Given the description of an element on the screen output the (x, y) to click on. 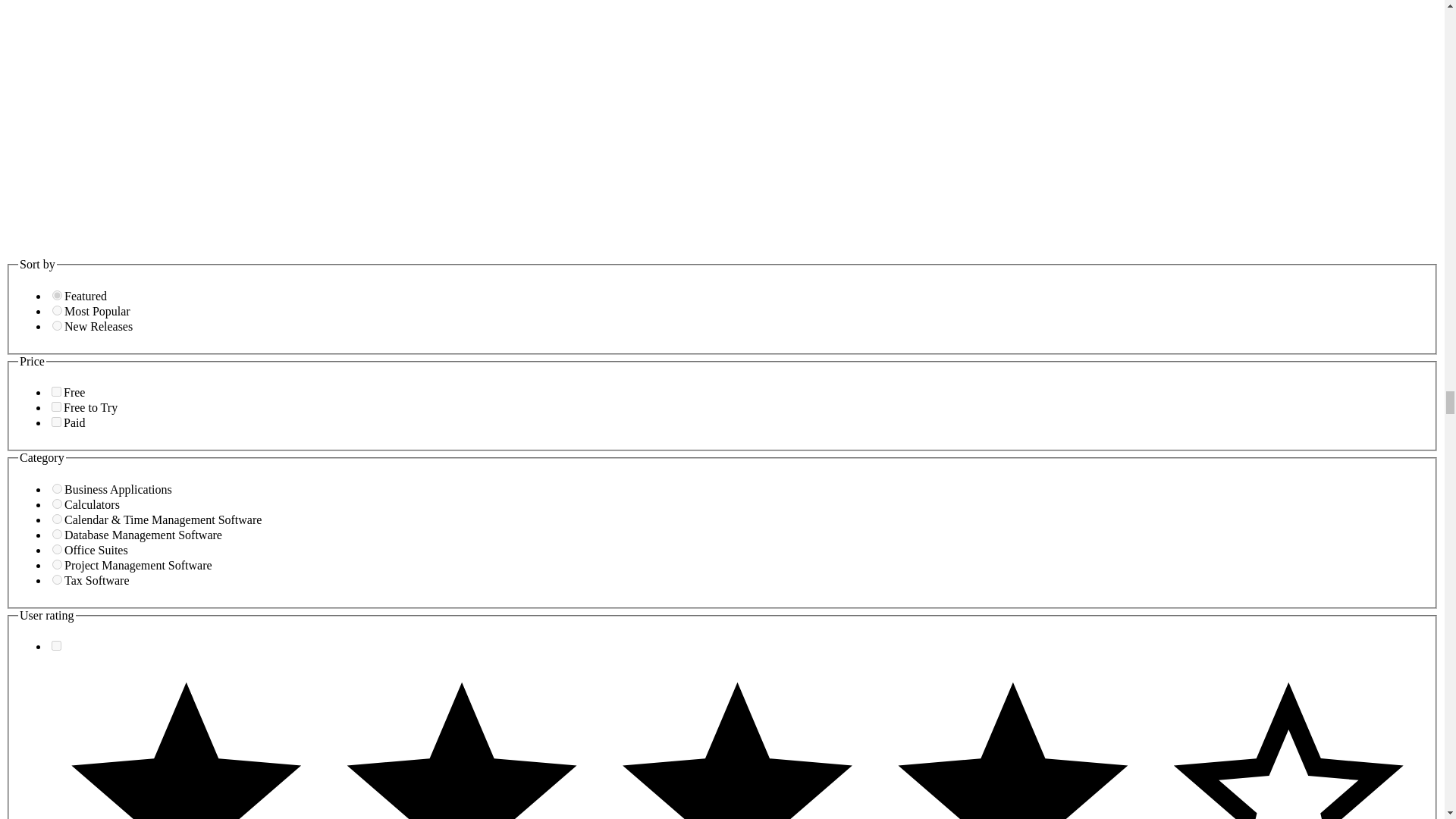
business-databases (57, 533)
business-office-suites (57, 549)
free (55, 391)
business-applications (57, 488)
featured (57, 295)
newReleases (57, 325)
utilities-calculators (57, 503)
freeToTry (55, 406)
productivity-calenders-planners (57, 519)
paid (55, 421)
